Given the description of an element on the screen output the (x, y) to click on. 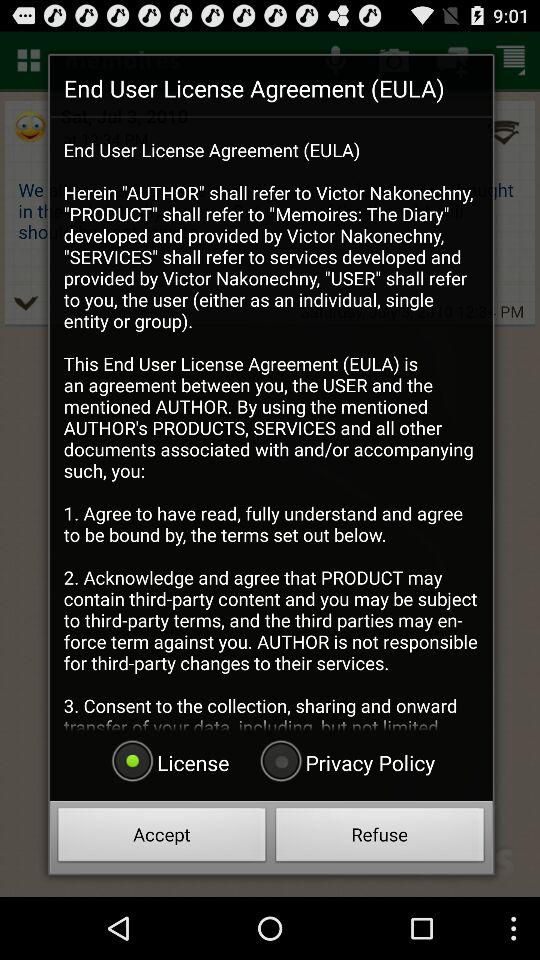
jump to refuse item (380, 837)
